Given the description of an element on the screen output the (x, y) to click on. 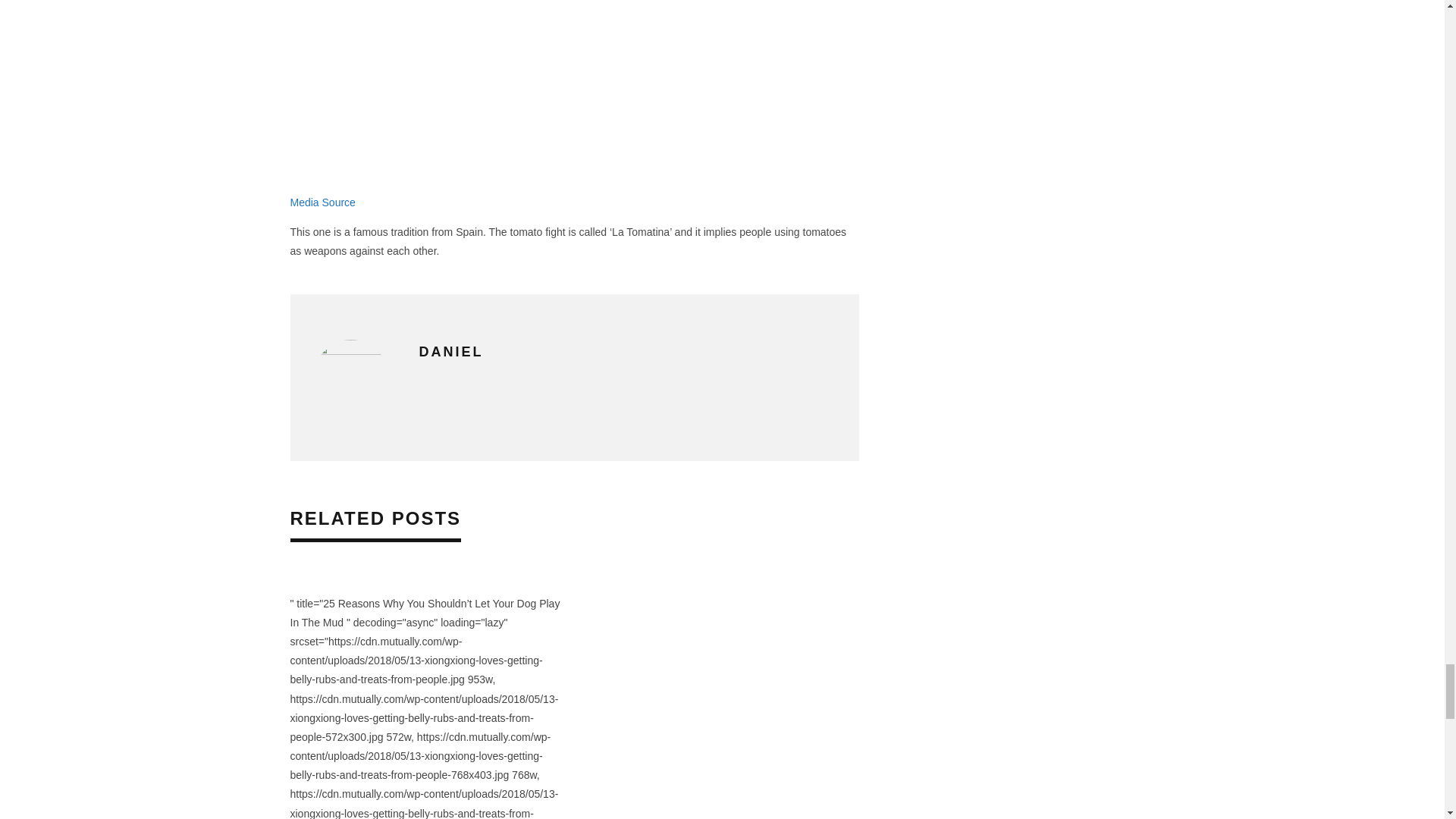
DANIEL (451, 351)
Media Source (322, 202)
